Given the description of an element on the screen output the (x, y) to click on. 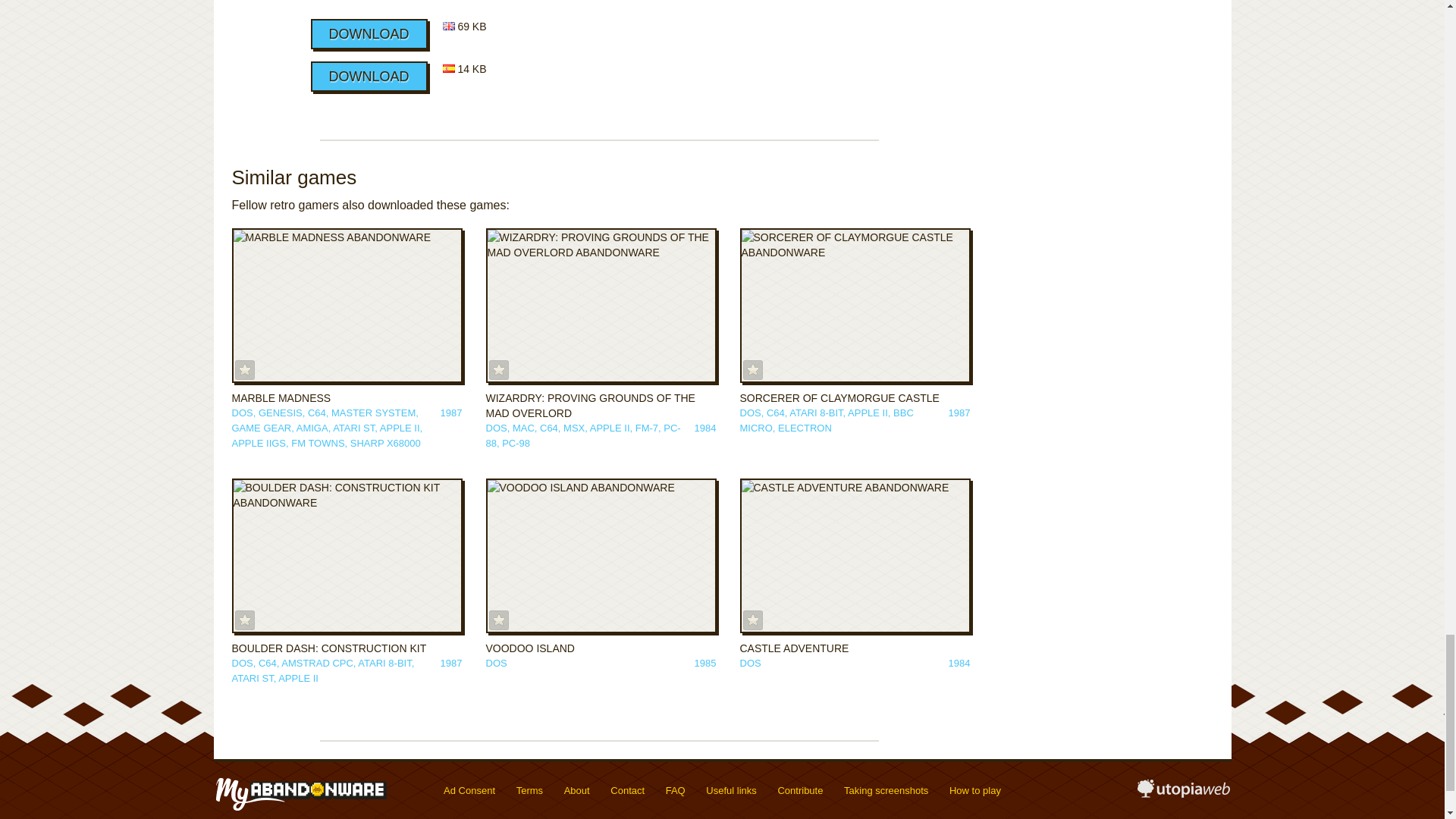
Visit utopiaweb website (1183, 793)
